Given the description of an element on the screen output the (x, y) to click on. 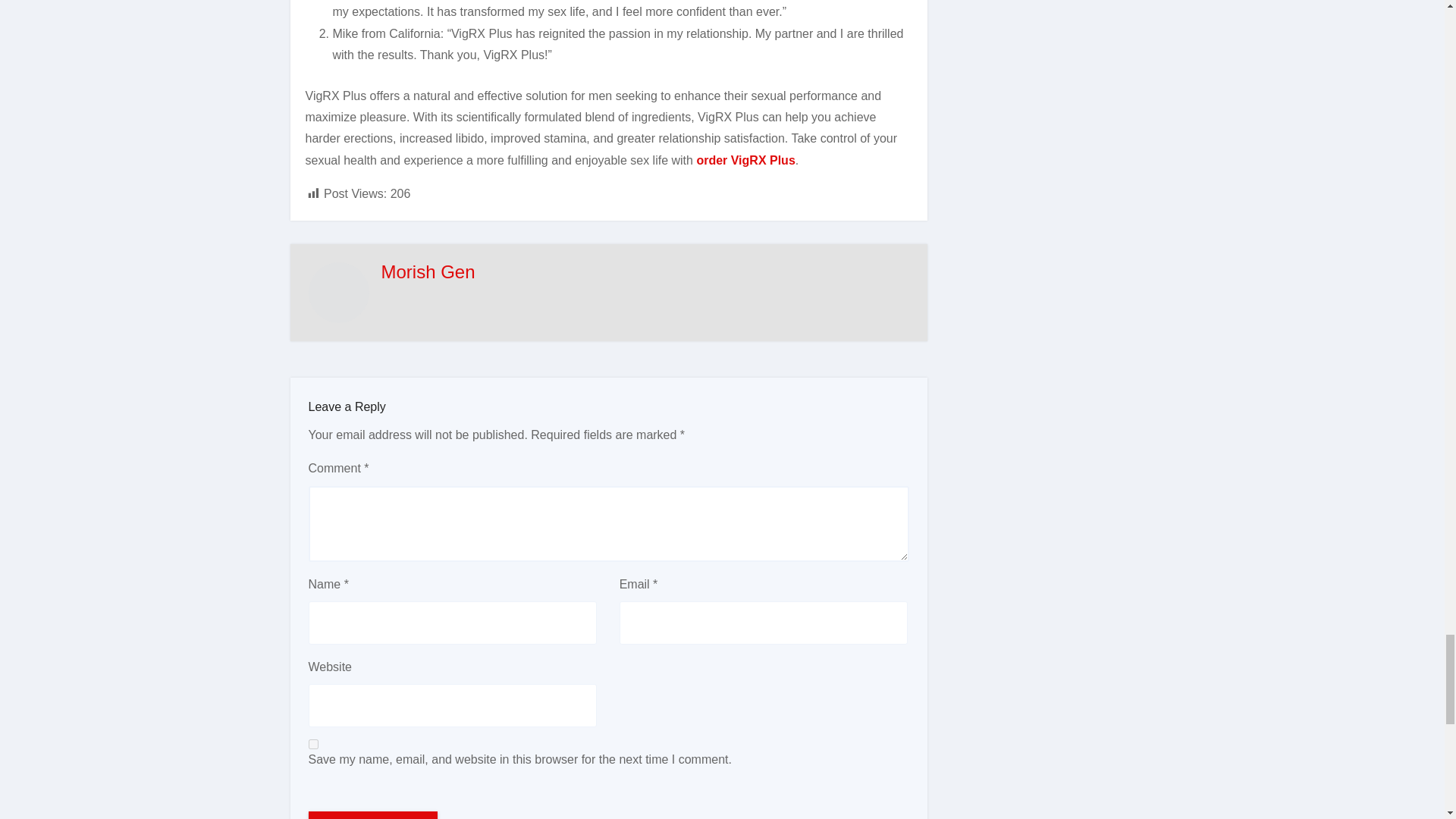
yes (312, 744)
Post Comment (372, 815)
